Given the description of an element on the screen output the (x, y) to click on. 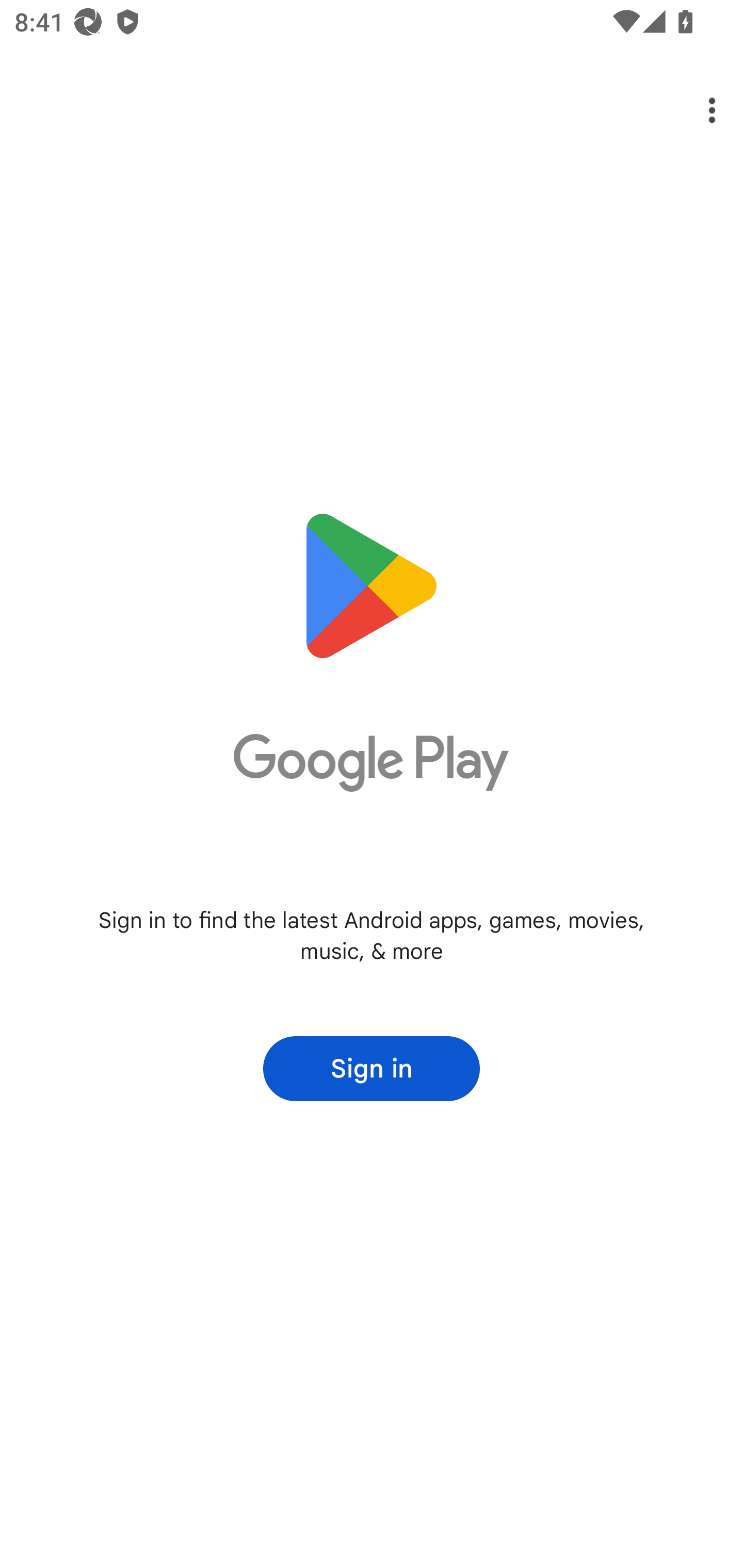
Options (697, 110)
Sign in (371, 1068)
